Given the description of an element on the screen output the (x, y) to click on. 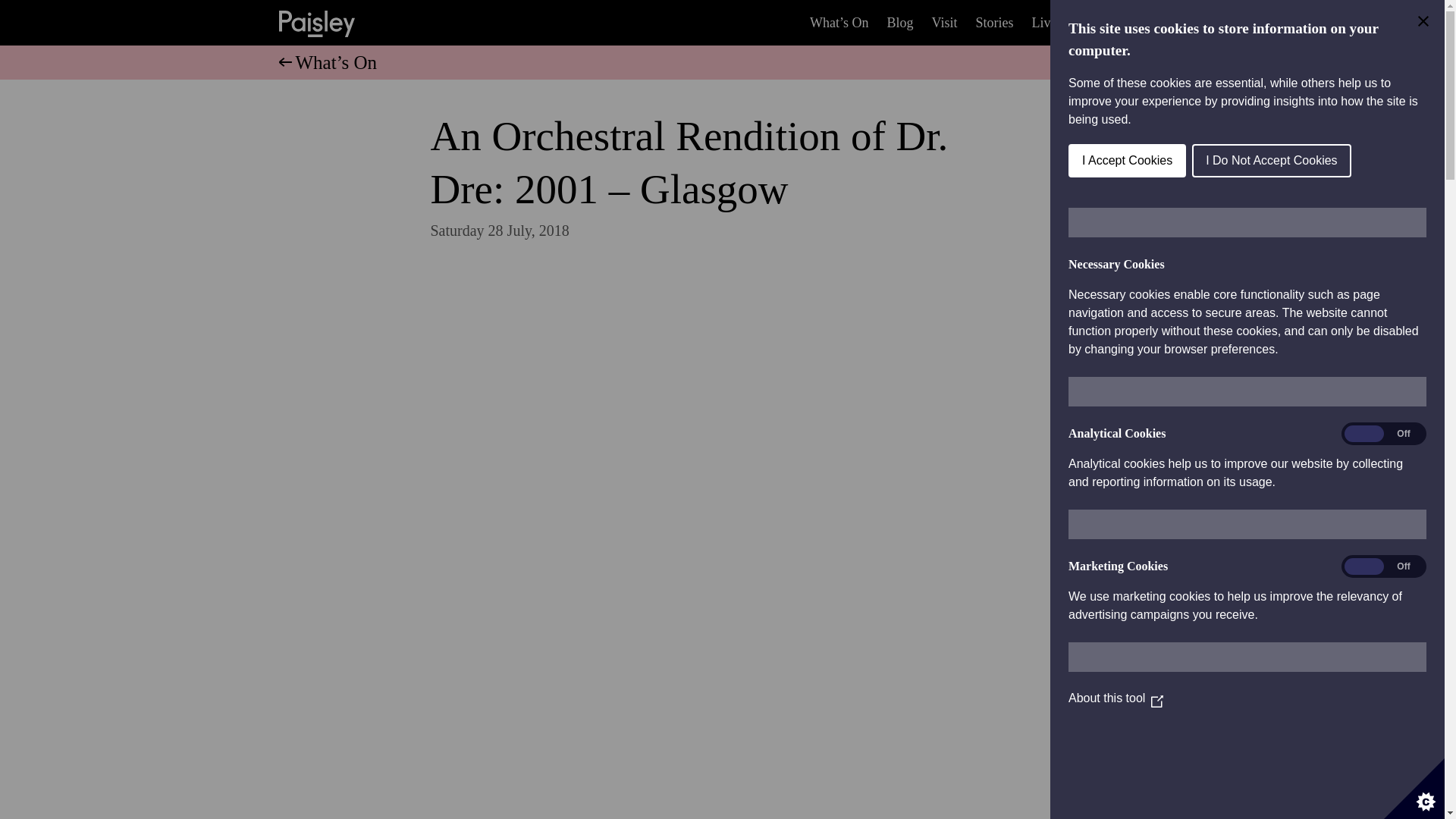
Visit (944, 22)
Invest (1091, 22)
Blog (900, 22)
Stories (994, 22)
Live (1043, 22)
